Given the description of an element on the screen output the (x, y) to click on. 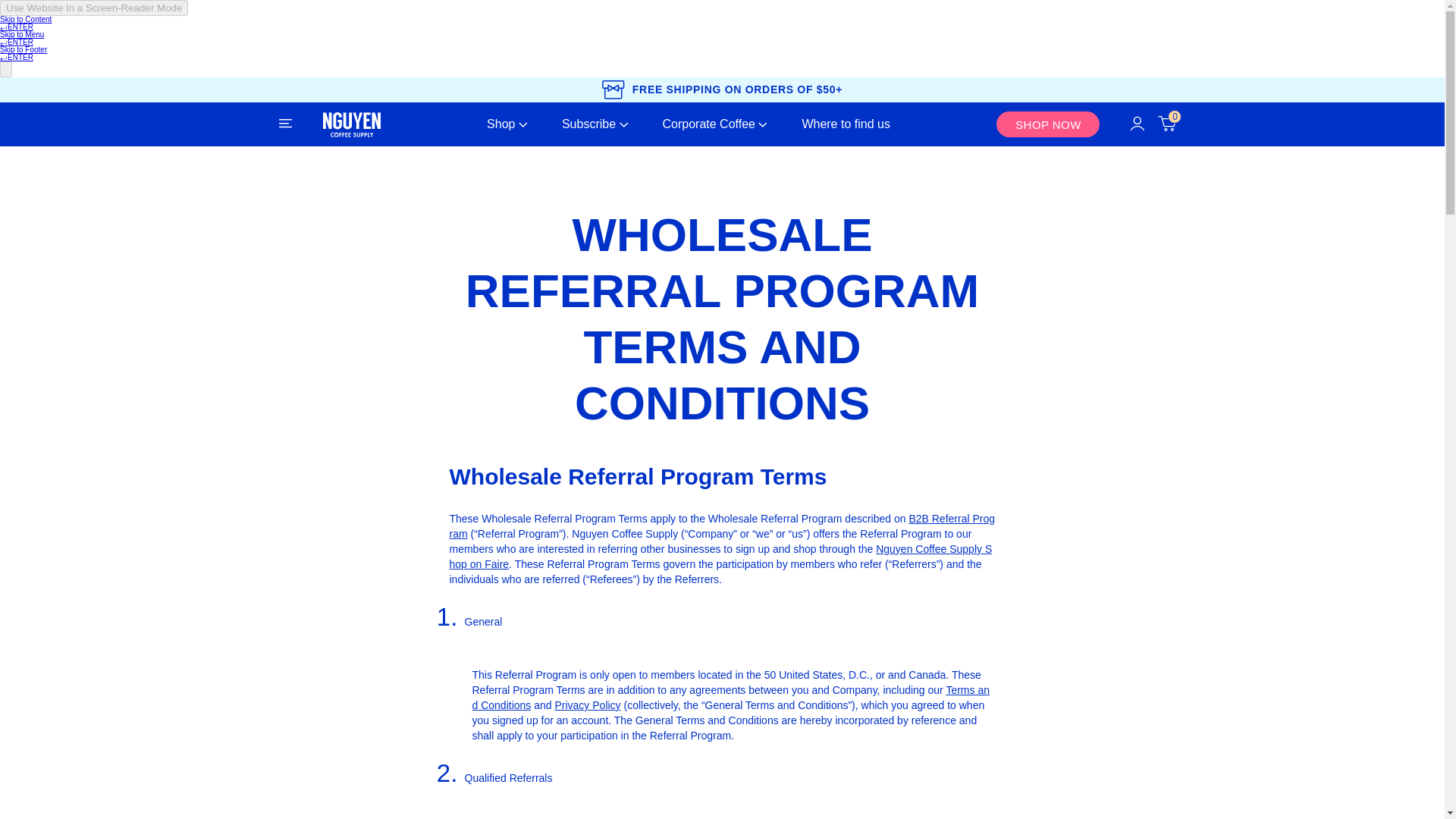
SHOP NOW (1047, 124)
Where to find us (845, 123)
Nguyen Coffee Supply (351, 124)
Shop now (1047, 124)
Where to find us (845, 123)
0 (1166, 124)
